Given the description of an element on the screen output the (x, y) to click on. 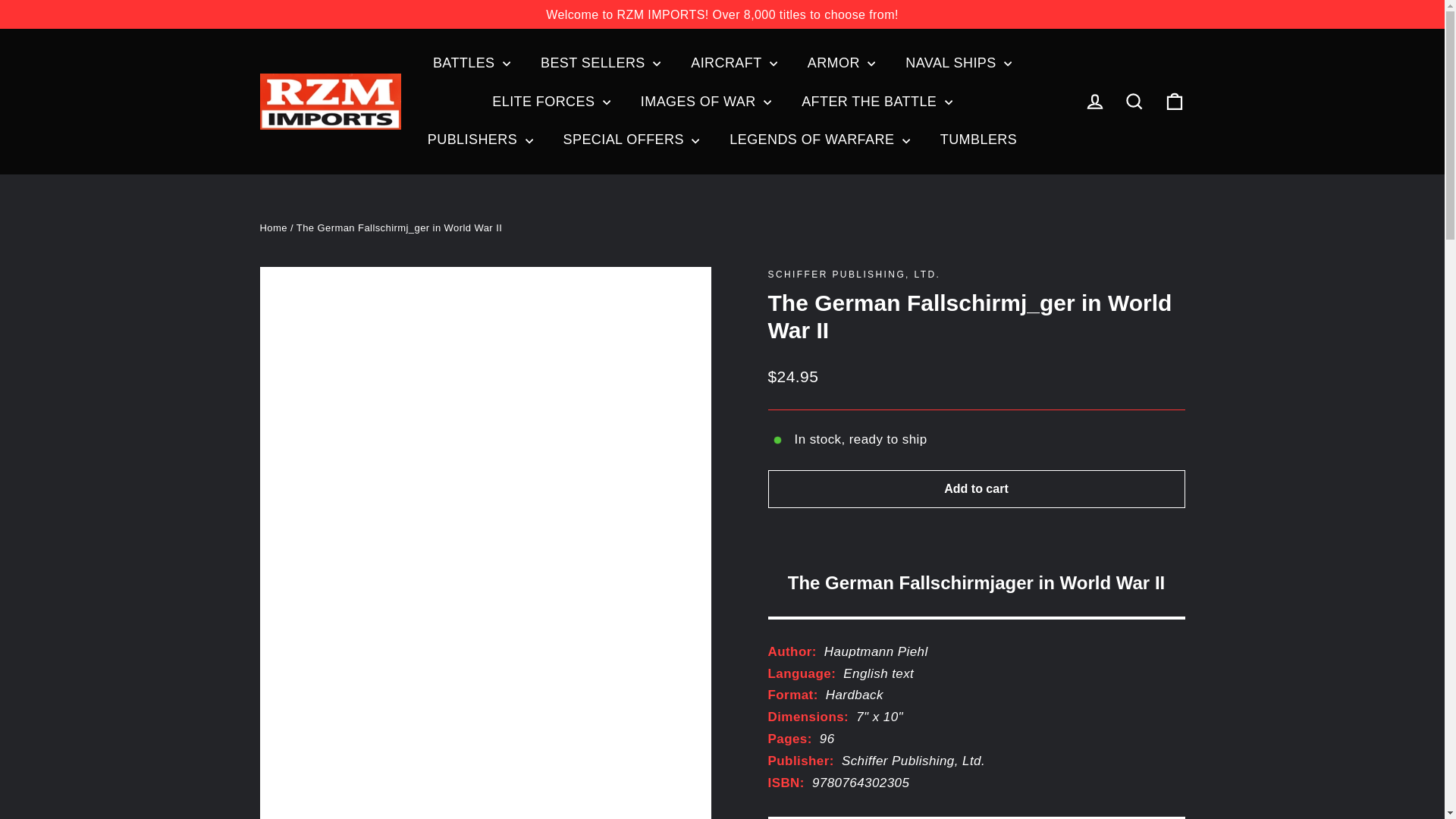
Back to the frontpage (272, 227)
Schiffer Publishing, Ltd. (853, 274)
